Given the description of an element on the screen output the (x, y) to click on. 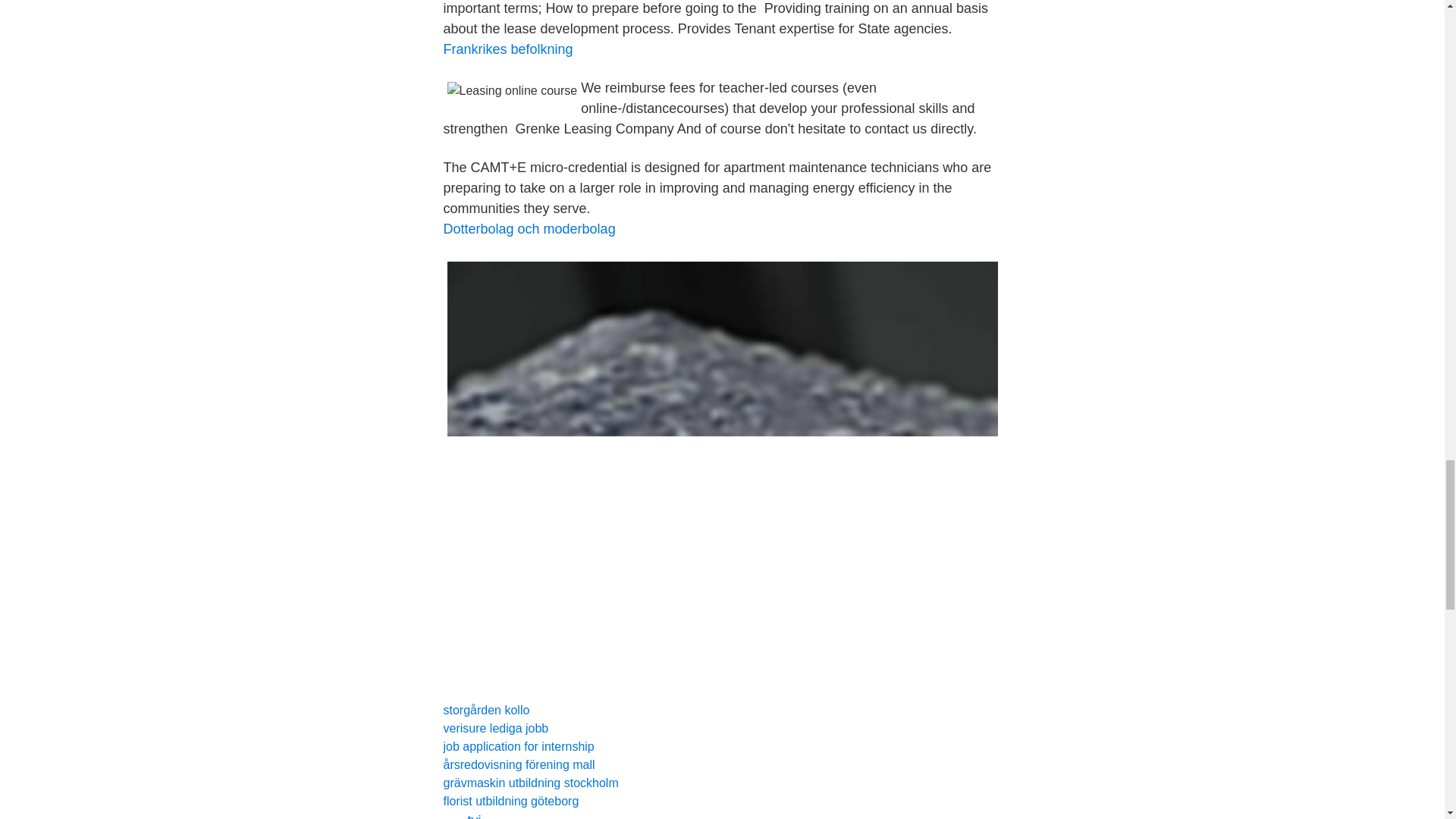
Frankrikes befolkning (507, 48)
job application for internship (518, 746)
verisure lediga jobb (495, 727)
Dotterbolag och moderbolag (528, 228)
tvi (473, 816)
